Given the description of an element on the screen output the (x, y) to click on. 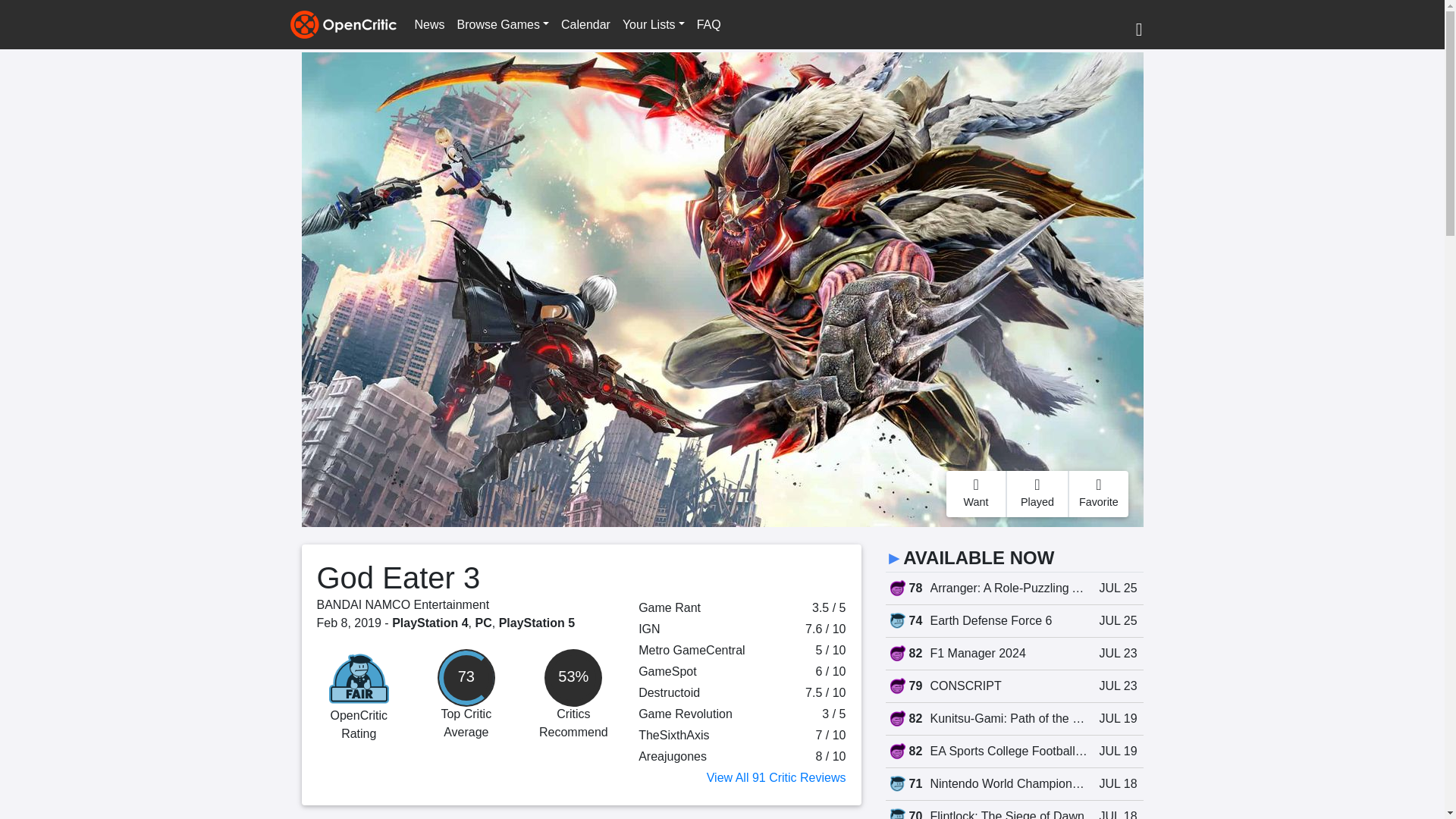
News (428, 24)
Browse Games (502, 24)
View All 91 Critic Reviews (775, 777)
Your Lists (652, 24)
Calendar (584, 24)
FAQ (708, 24)
